Given the description of an element on the screen output the (x, y) to click on. 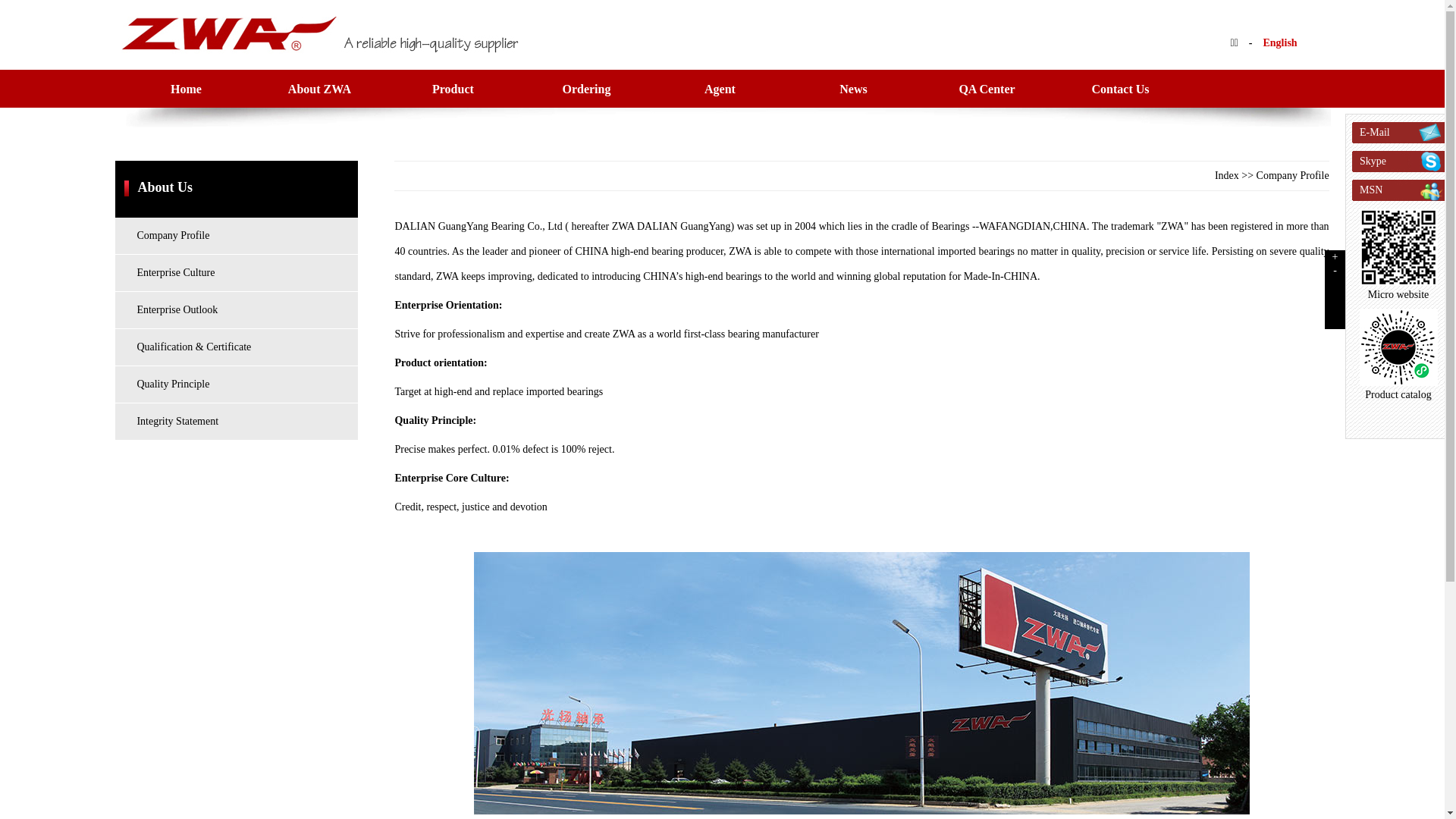
Product Element type: text (452, 88)
About ZWA Element type: text (318, 88)
QA Center Element type: text (987, 88)
Company Profile Element type: text (236, 235)
Index >> Element type: text (1235, 175)
Agent Element type: text (719, 88)
English Element type: text (1280, 42)
Contact Us Element type: text (1120, 88)
Quality Principle Element type: text (236, 384)
+
- Element type: text (1334, 289)
Integrity Statement Element type: text (236, 421)
News Element type: text (852, 88)
Qualification & Certificate Element type: text (236, 347)
Enterprise Culture Element type: text (236, 272)
Enterprise Outlook Element type: text (236, 309)
Company Profile Element type: text (1292, 175)
Home Element type: text (185, 88)
Ordering Element type: text (585, 88)
